Given the description of an element on the screen output the (x, y) to click on. 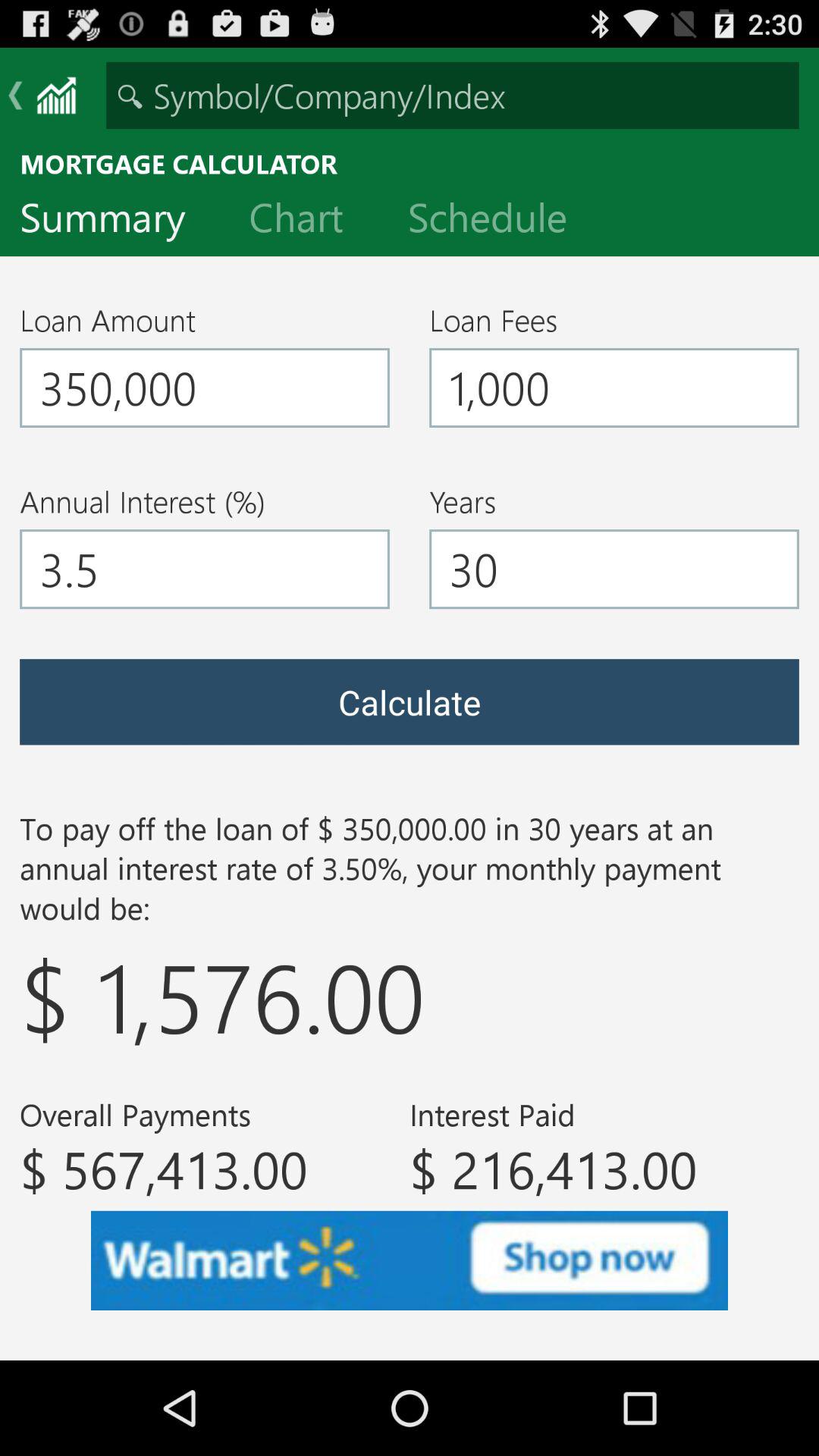
turn off the icon below the mortgage calculator icon (114, 220)
